Given the description of an element on the screen output the (x, y) to click on. 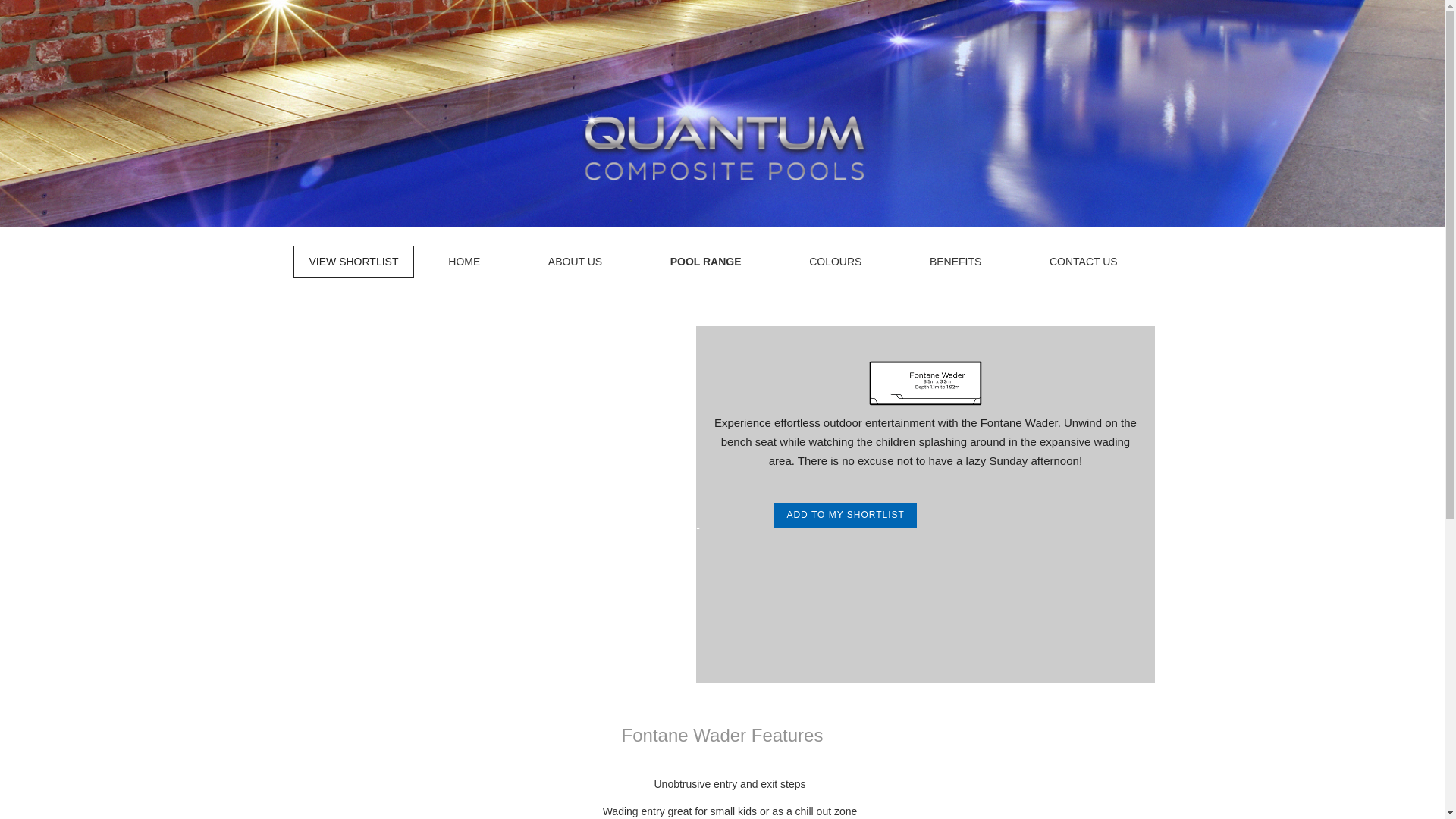
POOL RANGE (705, 261)
ADD TO MY SHORTLIST (844, 514)
HOME (464, 261)
VIEW SHORTLIST (352, 261)
CONTACT US (1083, 261)
BENEFITS (954, 261)
COLOURS (835, 261)
ABOUT US (575, 261)
